Given the description of an element on the screen output the (x, y) to click on. 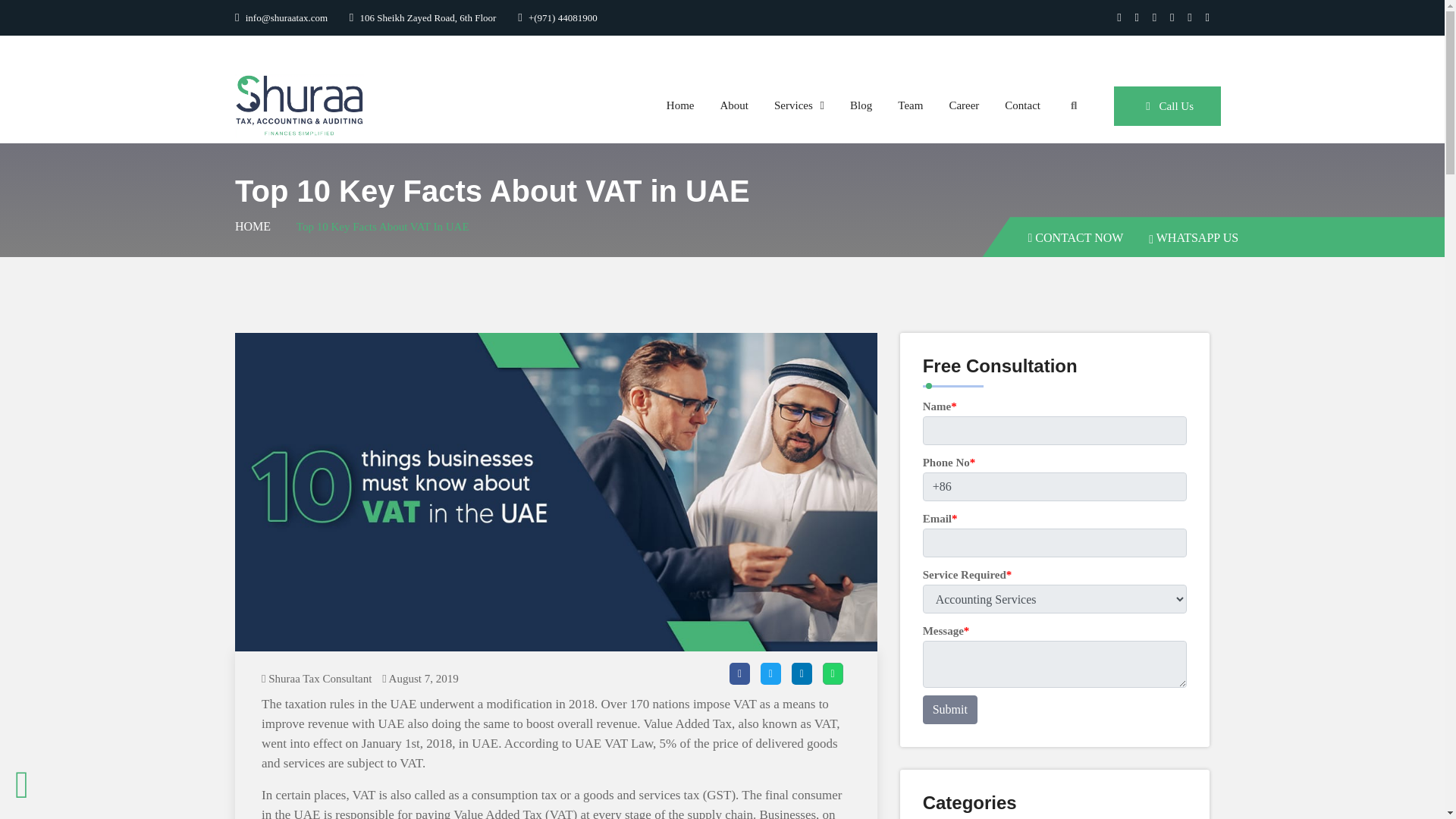
106 Sheikh Zayed Road, 6th Floor (422, 17)
Services (799, 105)
Shuraa Tax Consultants and Accountants (299, 104)
Home (680, 105)
About (734, 105)
